Given the description of an element on the screen output the (x, y) to click on. 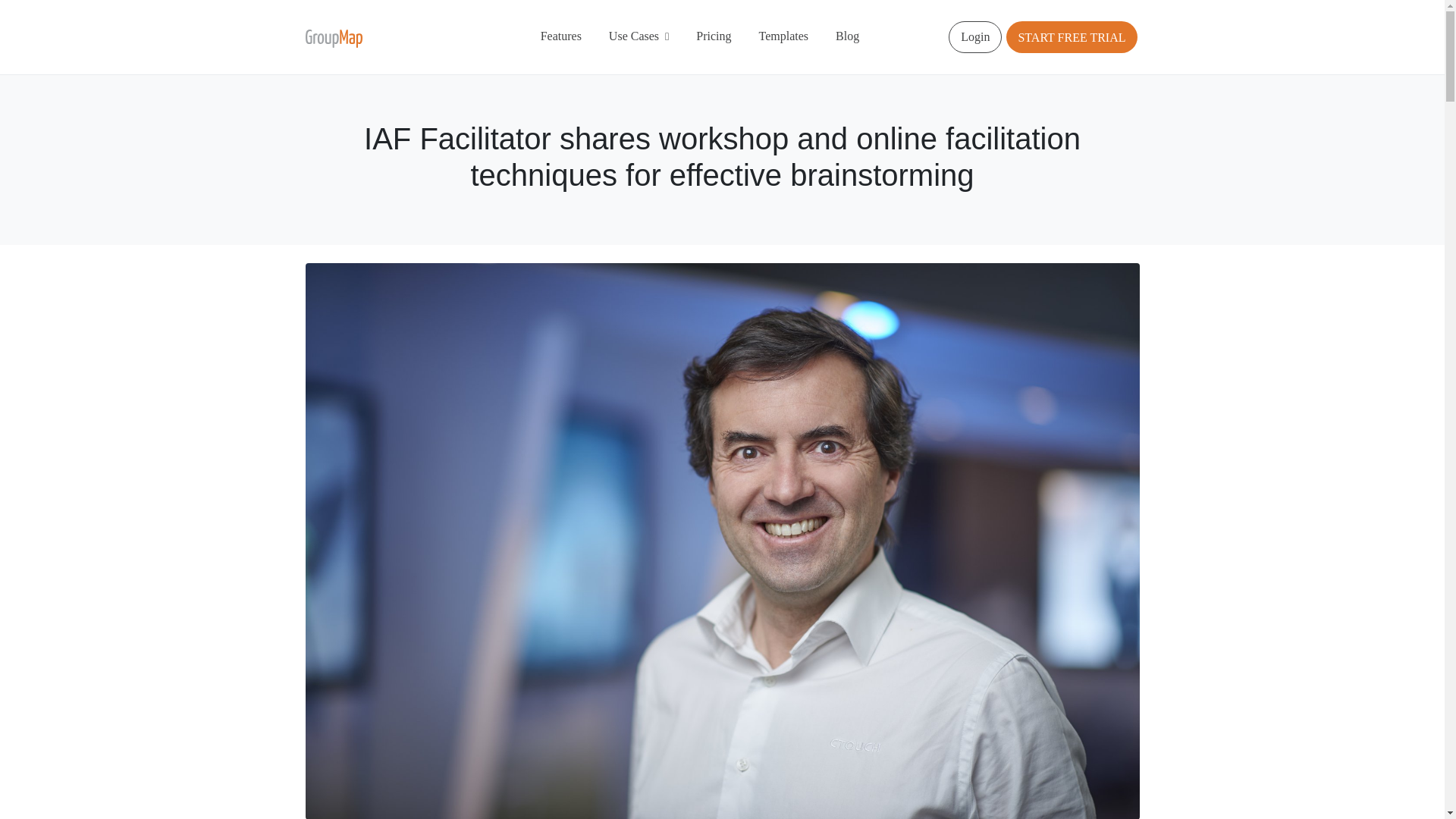
START FREE TRIAL (1071, 37)
Features (560, 36)
Templates (784, 36)
Use Cases (637, 36)
Blog (847, 36)
Pricing (713, 36)
Login (975, 37)
